Given the description of an element on the screen output the (x, y) to click on. 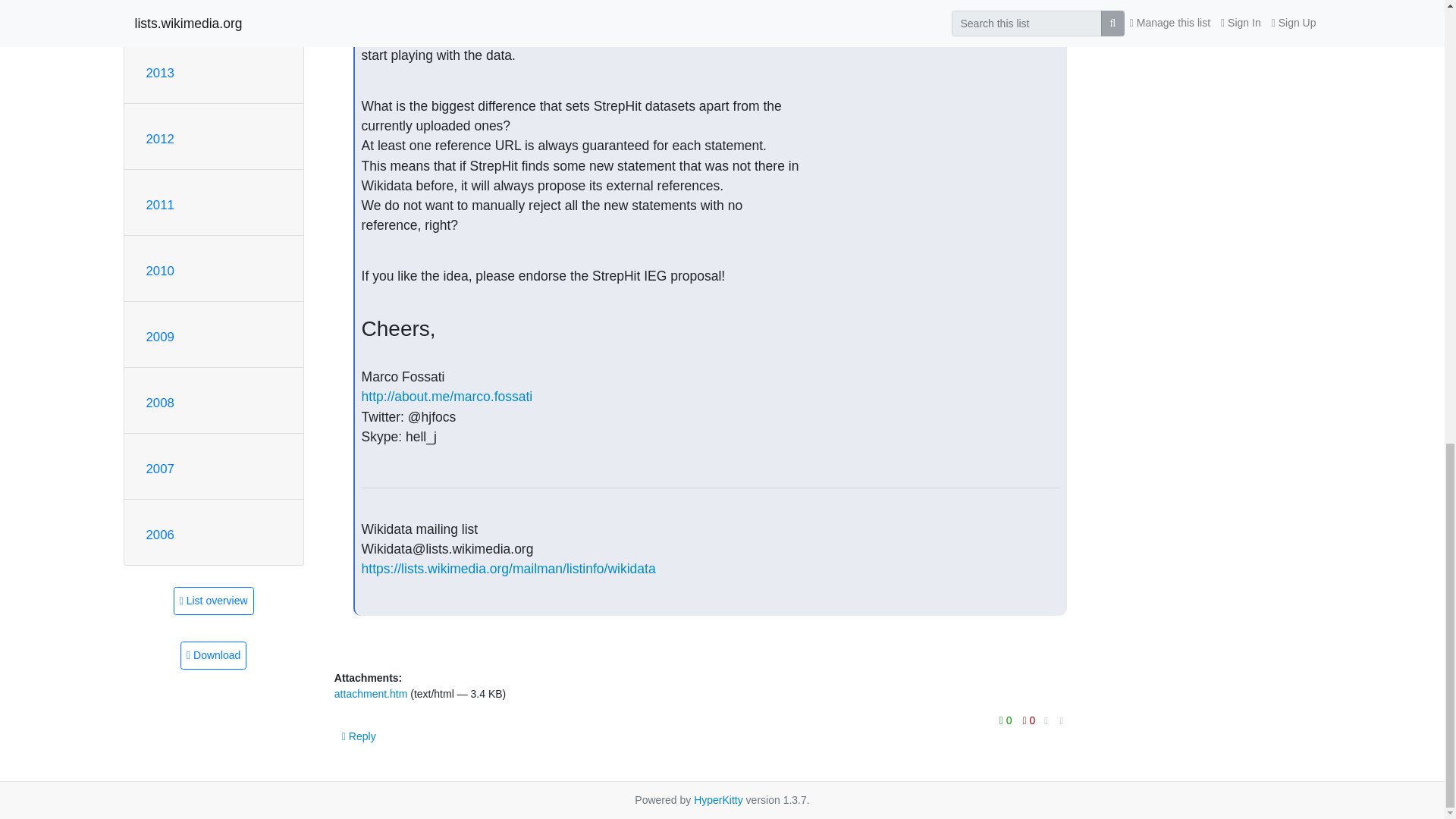
This message in gzipped mbox format (213, 655)
You must be logged-in to vote. (1007, 720)
Sign in to reply online (359, 736)
You must be logged-in to vote. (1029, 720)
